Given the description of an element on the screen output the (x, y) to click on. 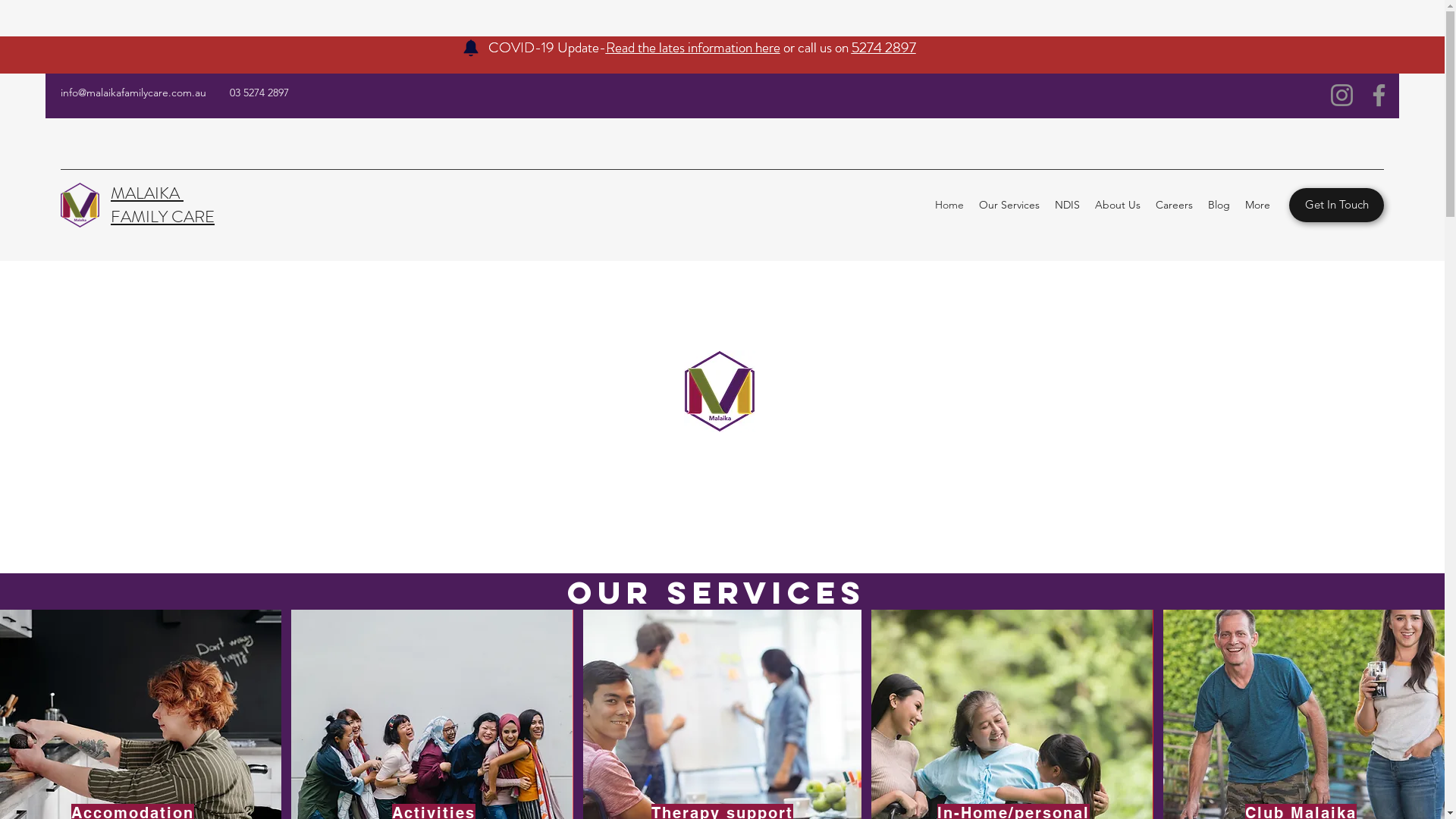
Blog Element type: text (1218, 204)
Careers Element type: text (1174, 204)
Read the lates information here Element type: text (692, 47)
Get In Touch Element type: text (1336, 205)
info@malaikafamilycare.com.au Element type: text (133, 92)
About Us Element type: text (1117, 204)
Our Services Element type: text (1009, 204)
Home Element type: text (949, 204)
NDIS Element type: text (1067, 204)
5274 2897 Element type: text (882, 47)
MALAIKA 
FAMILY CARE Element type: text (162, 204)
